Given the description of an element on the screen output the (x, y) to click on. 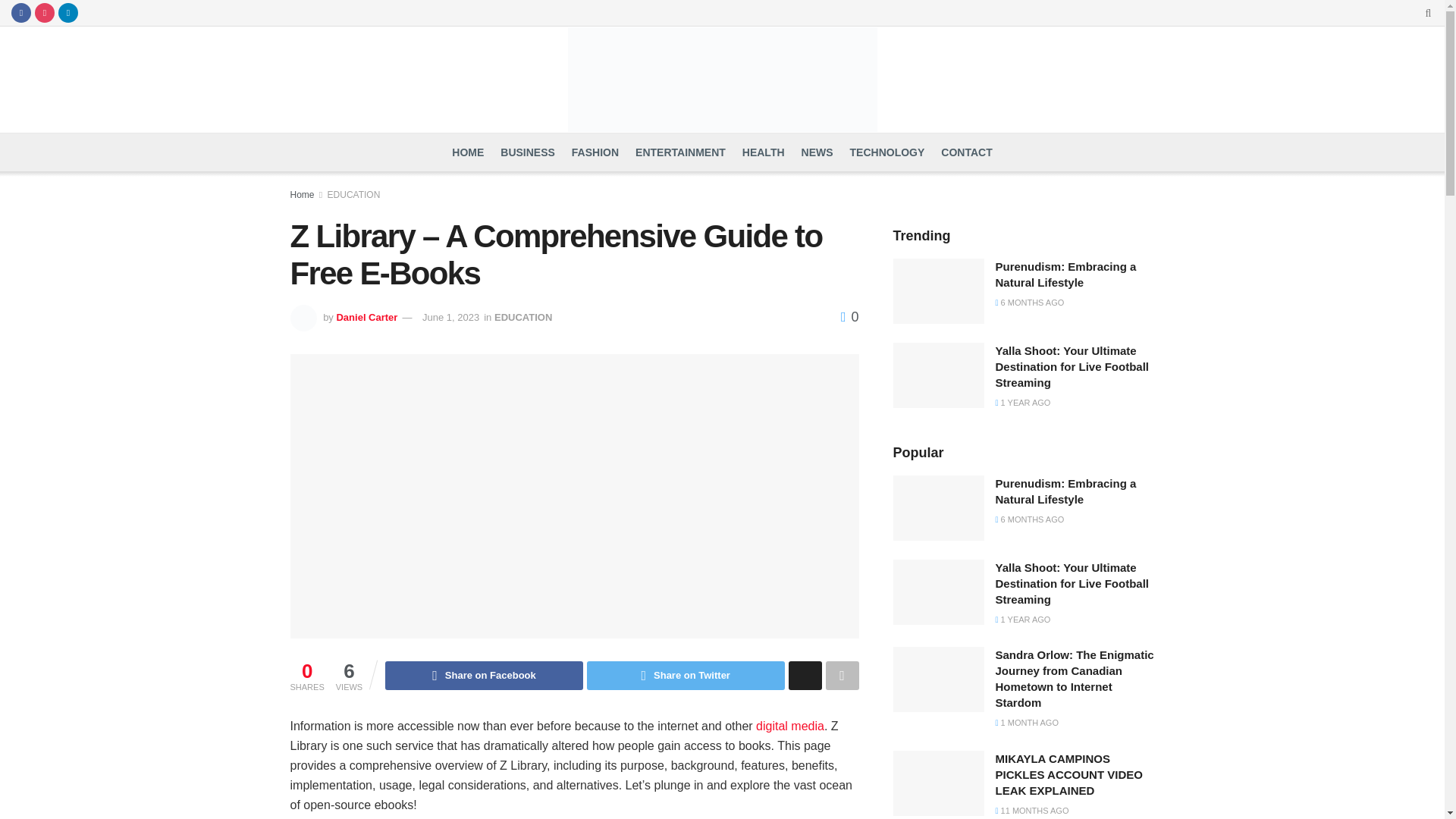
Daniel Carter (366, 317)
ENTERTAINMENT (679, 151)
Home (301, 194)
CONTACT (965, 151)
0 (850, 316)
HEALTH (763, 151)
Share on Twitter (685, 675)
EDUCATION (523, 317)
FASHION (595, 151)
BUSINESS (527, 151)
